Given the description of an element on the screen output the (x, y) to click on. 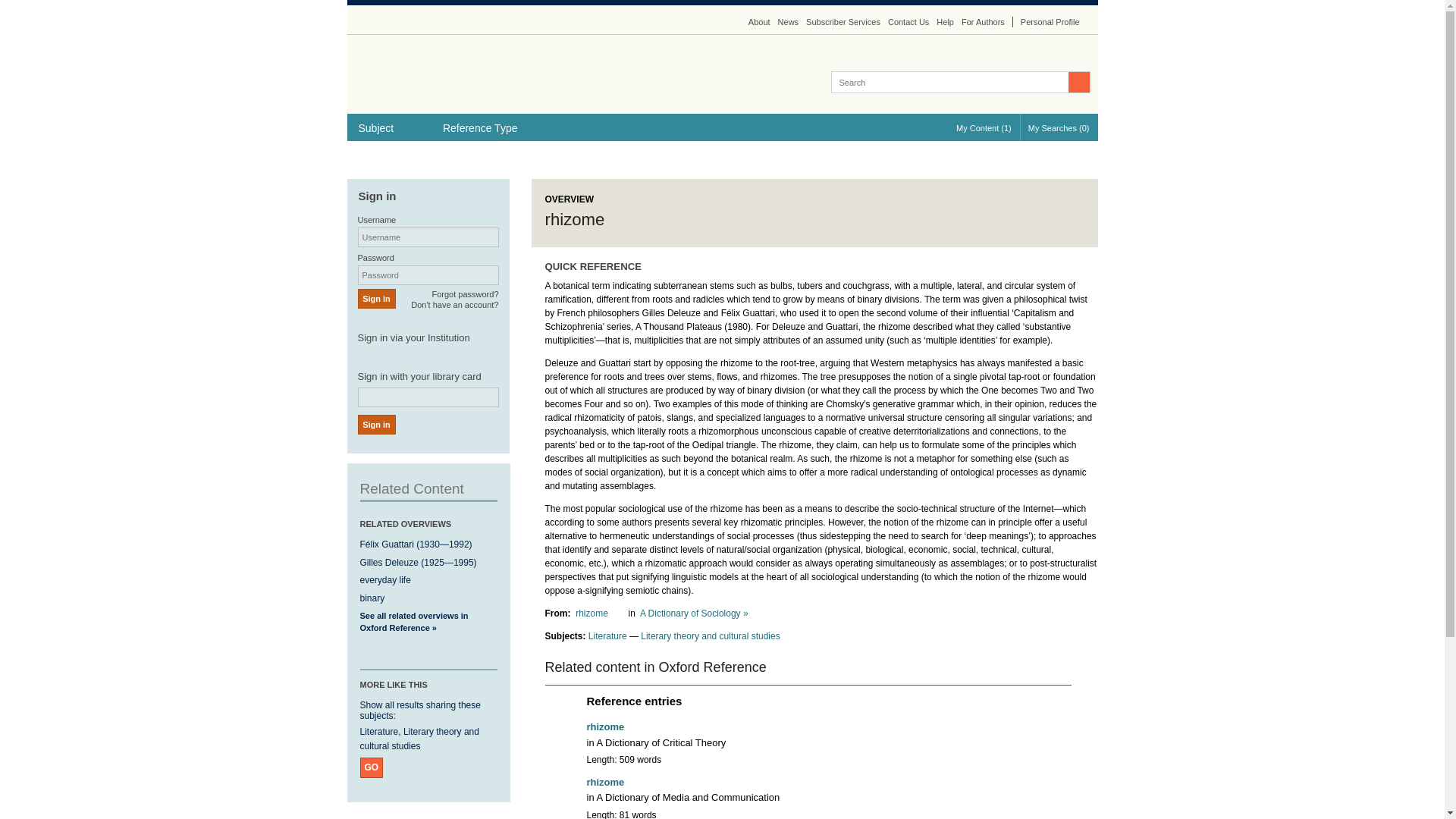
About (759, 21)
locked (613, 781)
Subject    (388, 126)
locked (613, 726)
locked (599, 613)
Help (944, 21)
Cite (1051, 158)
Search (1078, 82)
Sign in (377, 298)
Contact Us (908, 21)
